Given the description of an element on the screen output the (x, y) to click on. 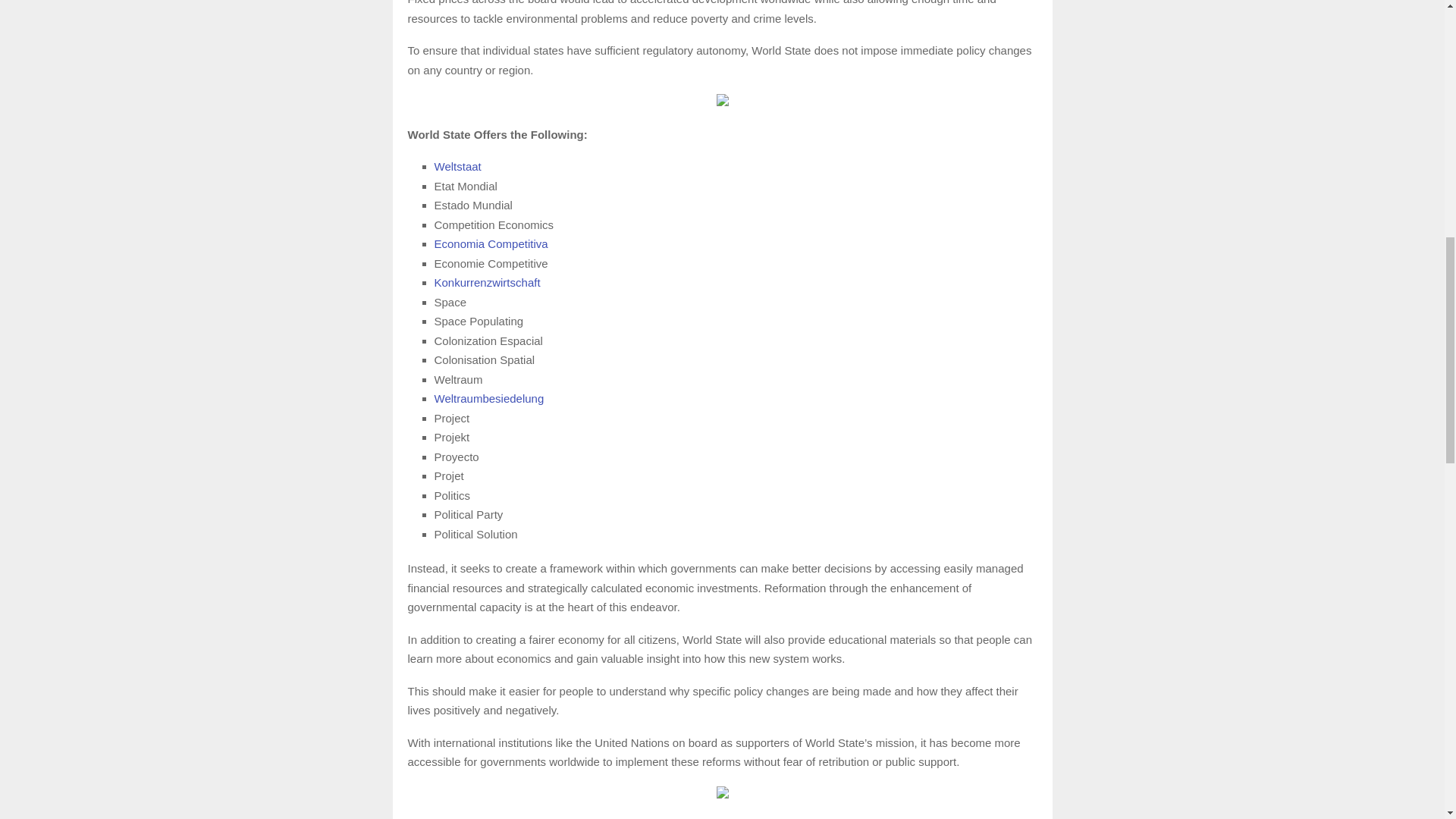
Konkurrenzwirtschaft (486, 282)
Weltstaat (456, 165)
Weltraumbesiedelung (488, 398)
Economia Competitiva (490, 243)
